Given the description of an element on the screen output the (x, y) to click on. 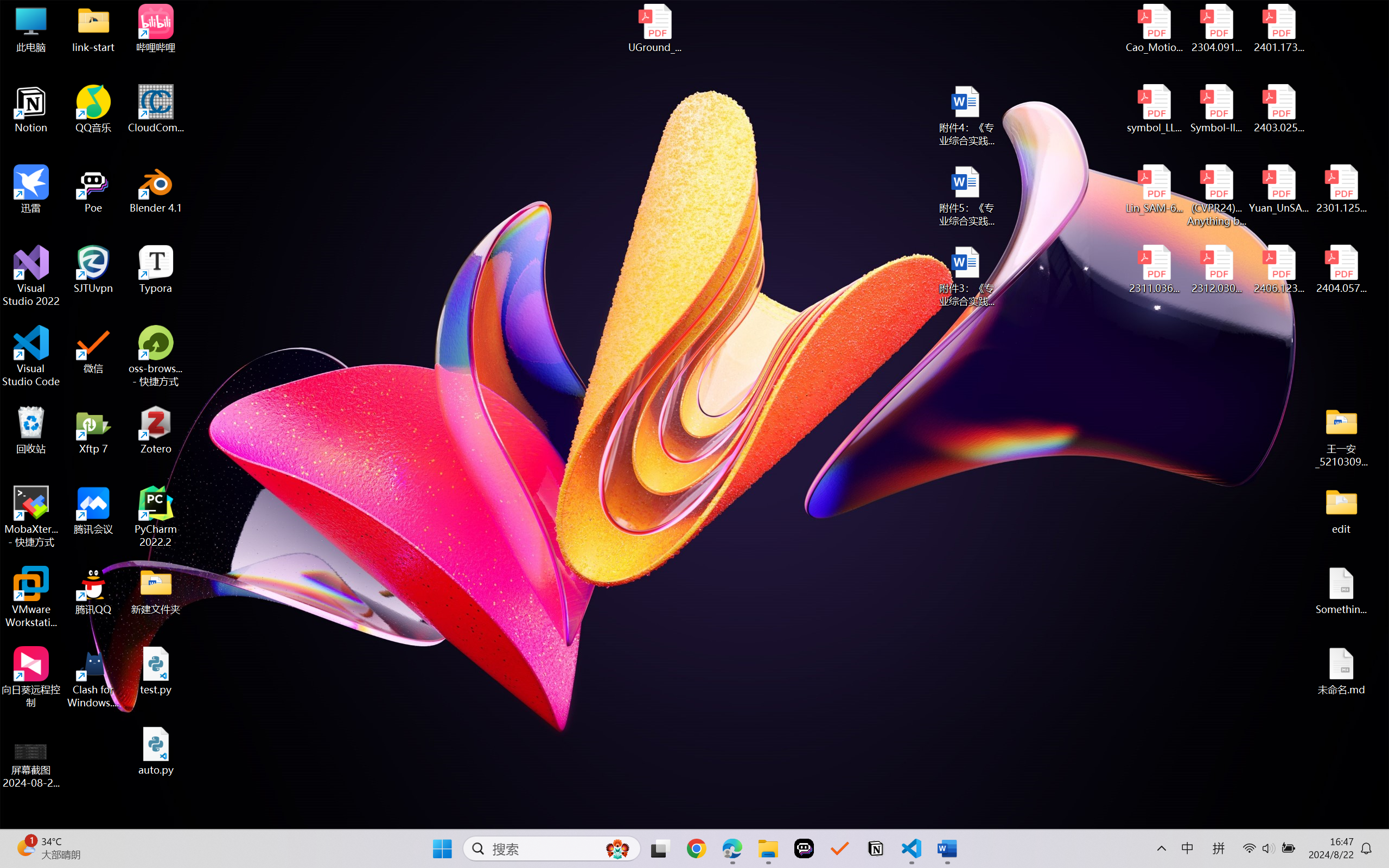
test.py (156, 670)
PyCharm 2022.2 (156, 516)
